Given the description of an element on the screen output the (x, y) to click on. 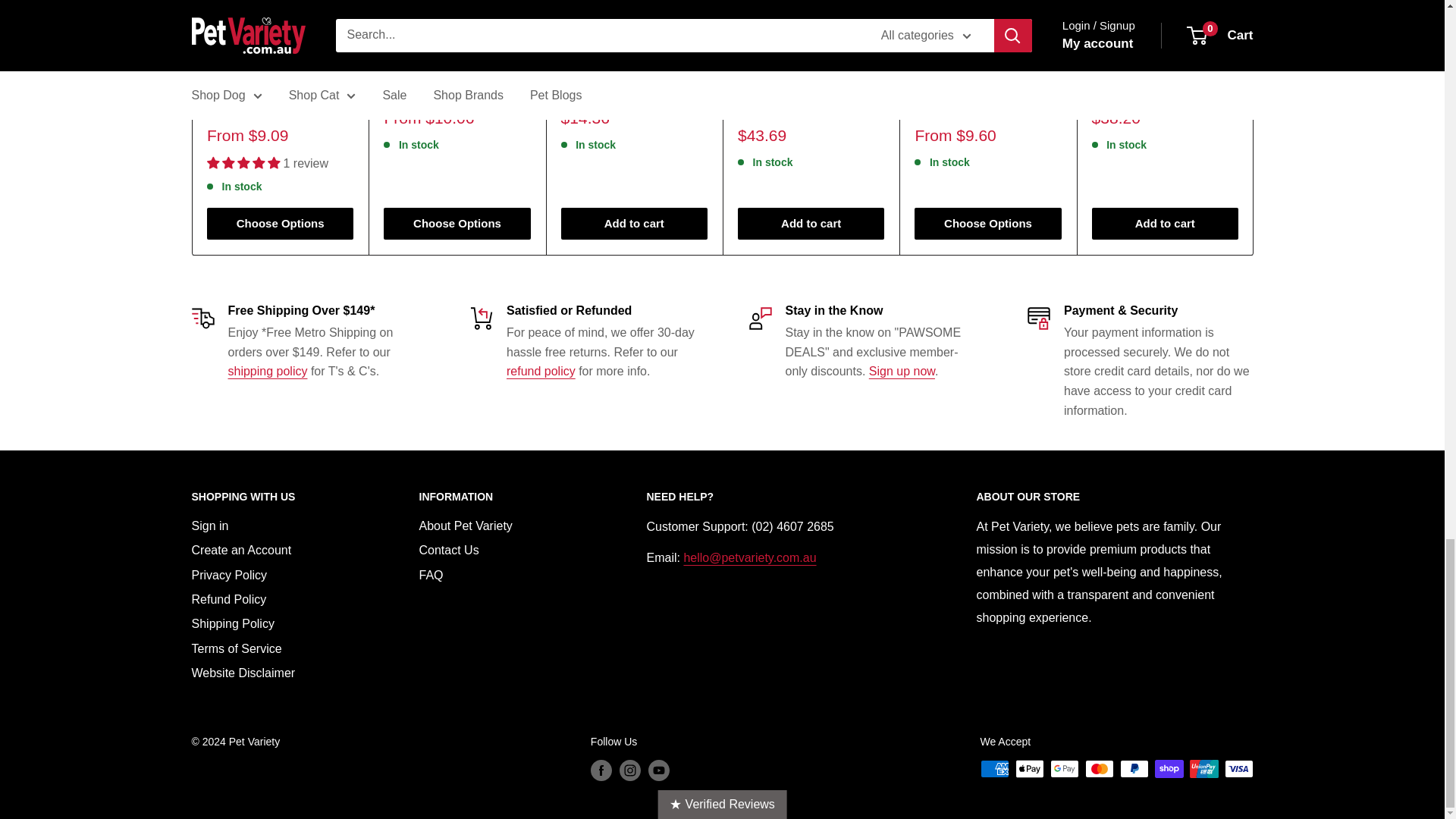
Shipping Policy (267, 370)
Get in Touch (748, 557)
Refund Policy (540, 370)
